Given the description of an element on the screen output the (x, y) to click on. 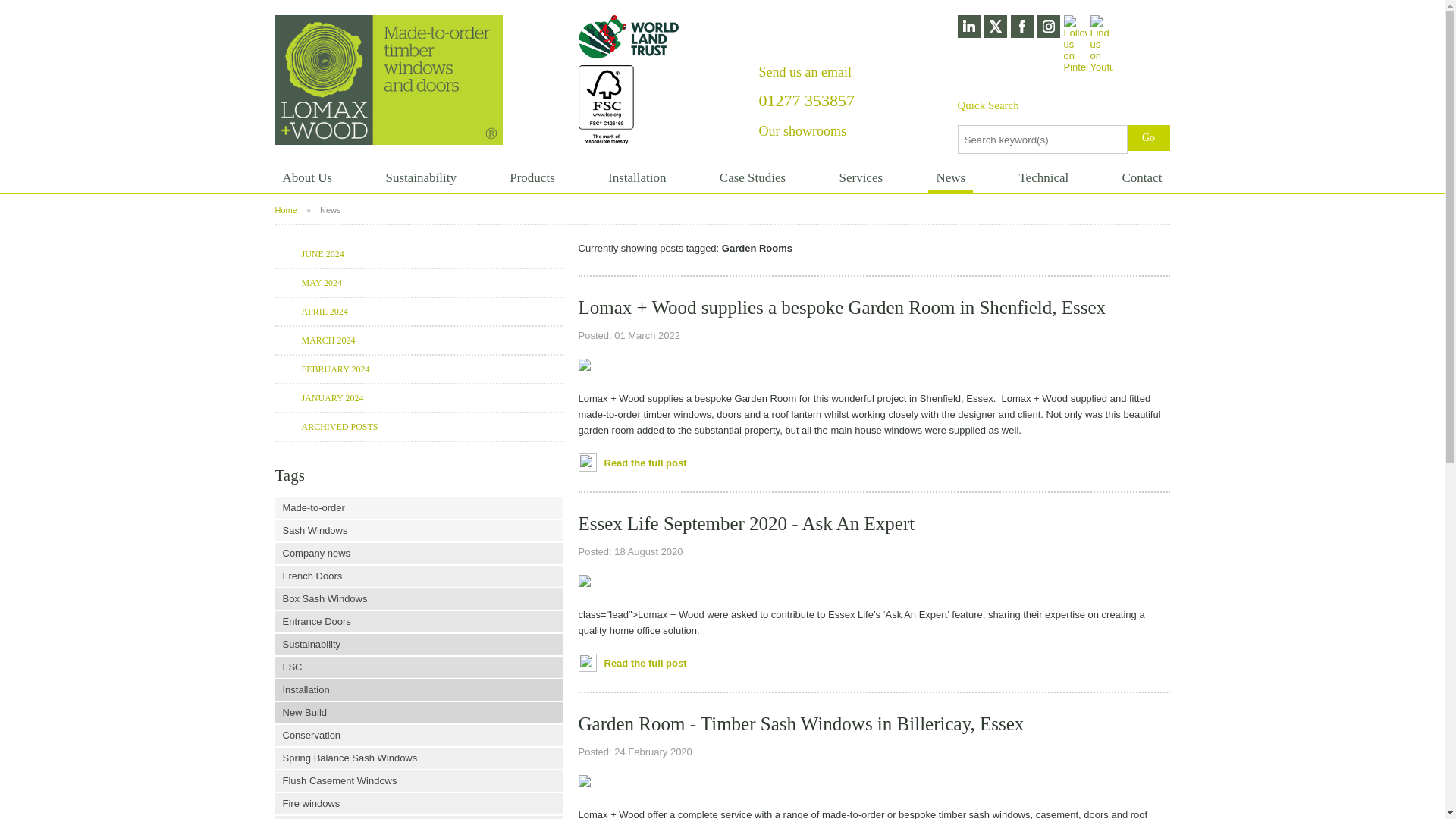
Case Studies (752, 177)
Follow us on Linkedin (1047, 27)
Go (1147, 137)
Products (532, 177)
About Us (307, 177)
Home (286, 209)
Follow us on X (995, 27)
Send us an email (804, 71)
Go (1147, 137)
Sustainability (420, 177)
